Given the description of an element on the screen output the (x, y) to click on. 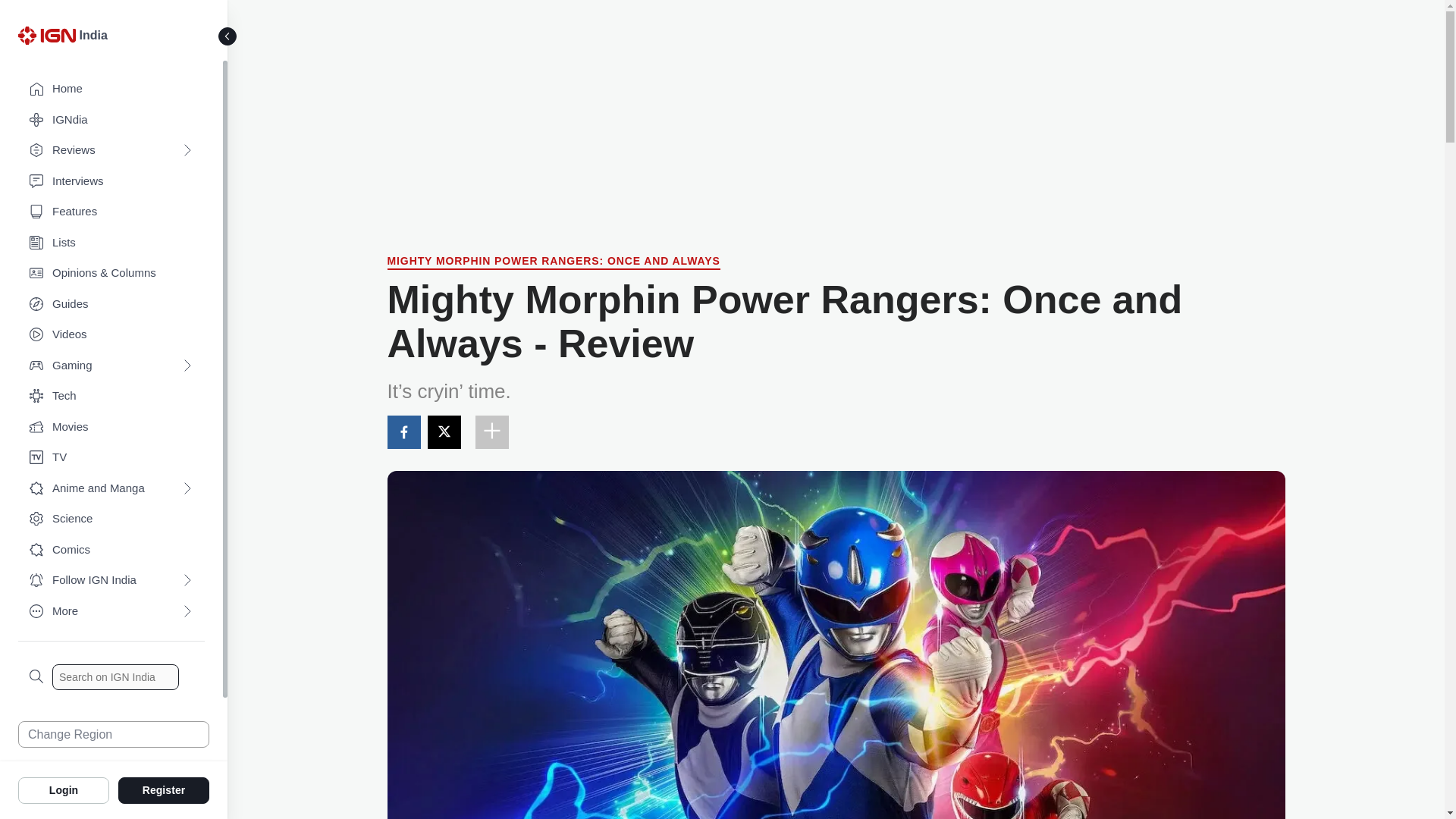
Movies (111, 427)
Interviews (111, 181)
Mighty Morphin Power Rangers: Once and Always (553, 262)
More (111, 610)
Guides (111, 304)
Gaming (111, 365)
Comics (111, 550)
IGN Logo (46, 34)
IGN Logo (48, 39)
Anime and Manga (111, 487)
